Given the description of an element on the screen output the (x, y) to click on. 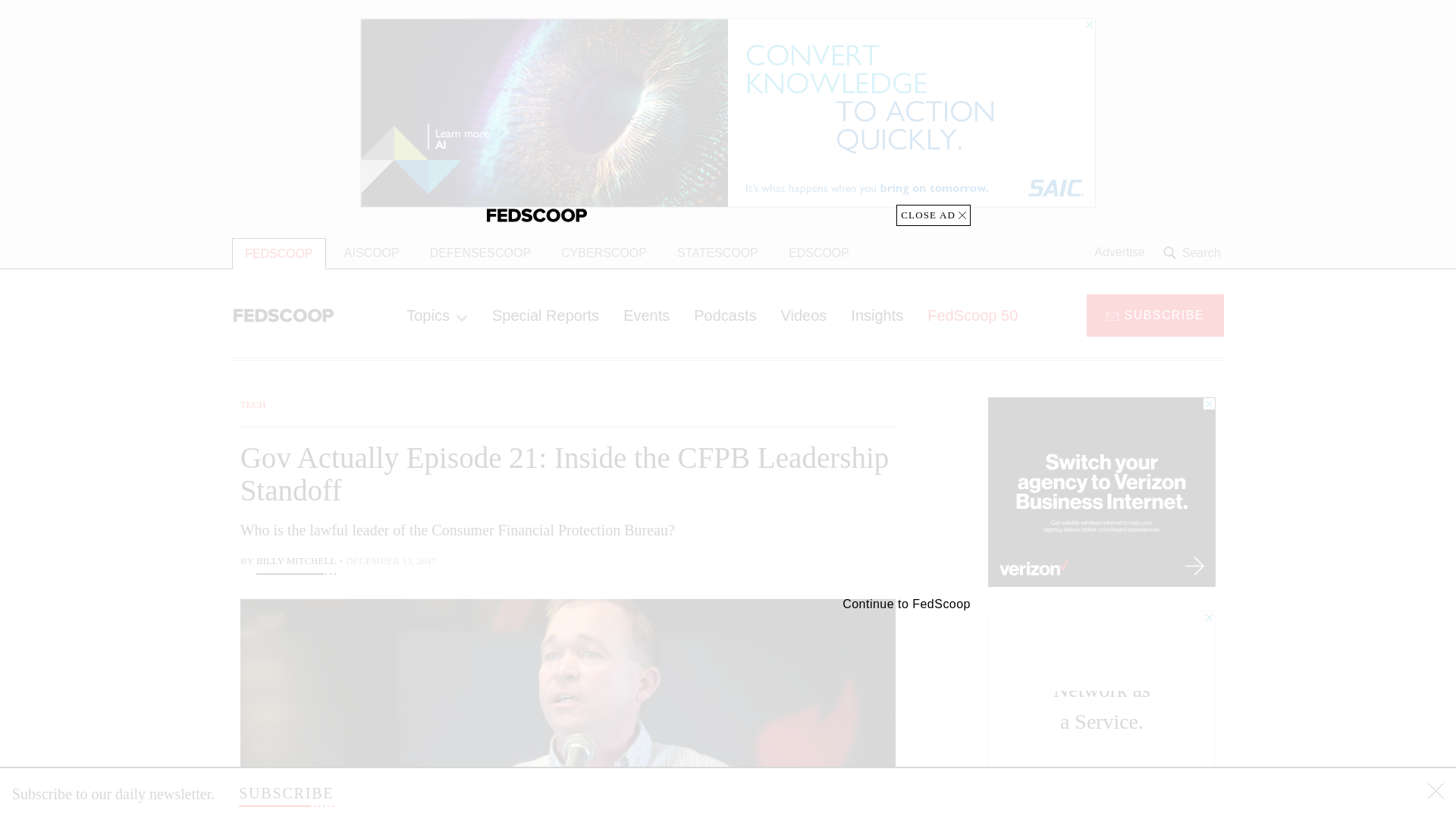
STATESCOOP (717, 253)
Topics (437, 315)
Billy Mitchell (296, 562)
3rd party ad content (1101, 492)
AISCOOP (371, 253)
3rd party ad content (1101, 705)
EDSCOOP (818, 253)
TECH (253, 404)
SUBSCRIBE (285, 793)
